Given the description of an element on the screen output the (x, y) to click on. 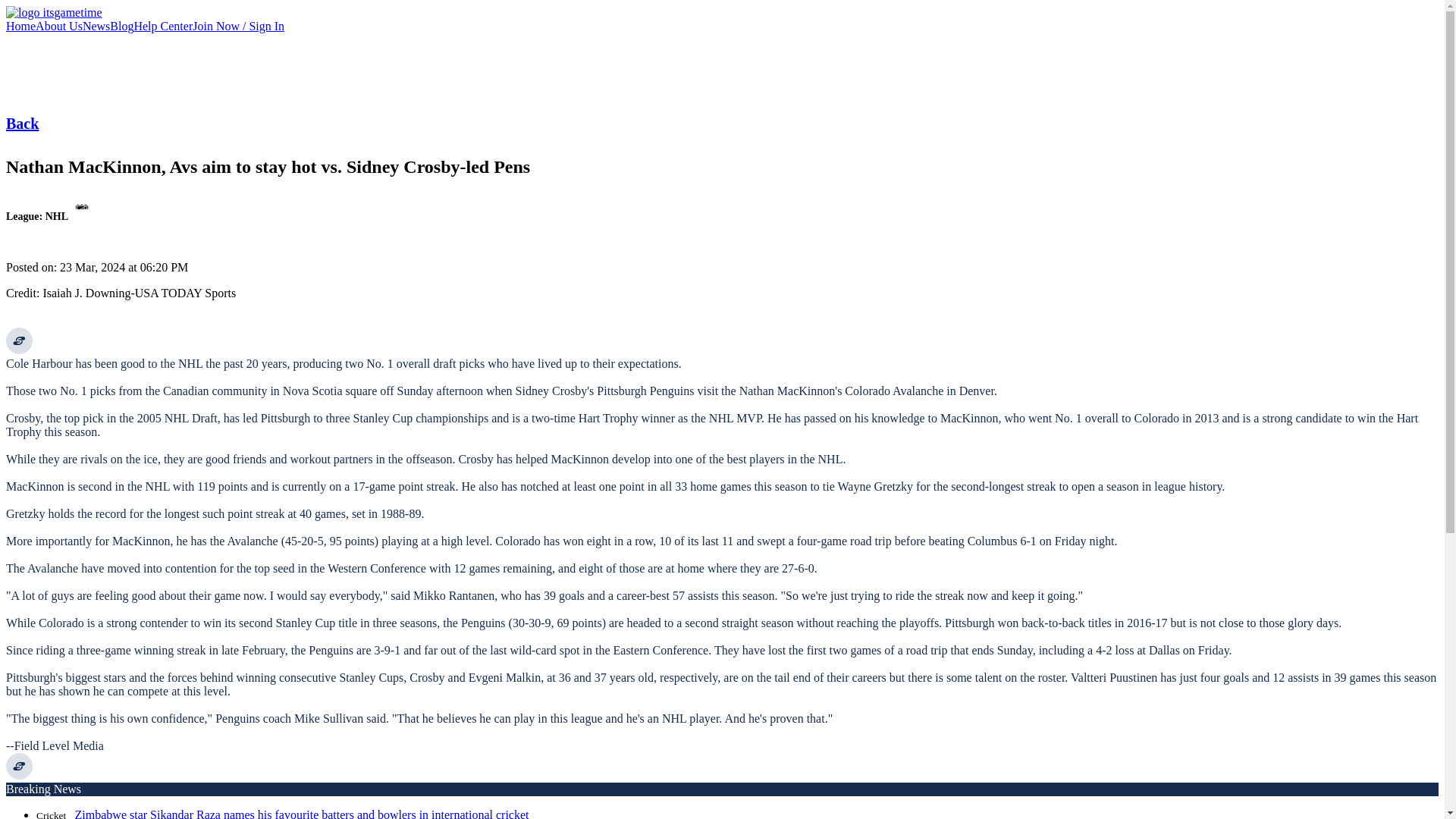
Back (22, 123)
News (96, 25)
Help Center (162, 25)
Home (19, 25)
About Us (58, 25)
Blog (121, 25)
